Given the description of an element on the screen output the (x, y) to click on. 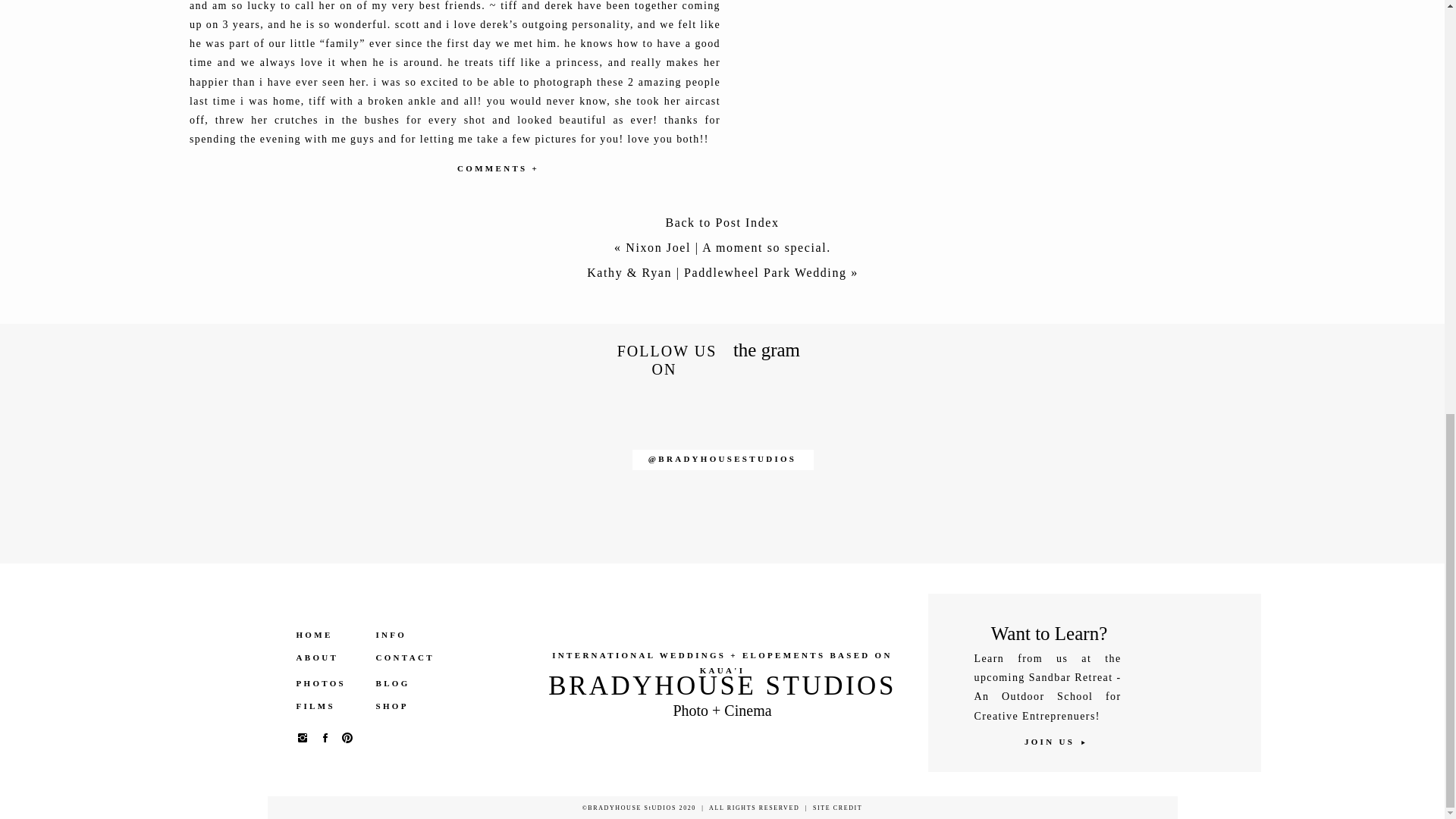
FILMS (327, 706)
PHOTOS (327, 683)
INFO (400, 635)
Back to Post Index (721, 226)
HOME (327, 635)
ABOUT (327, 657)
